Given the description of an element on the screen output the (x, y) to click on. 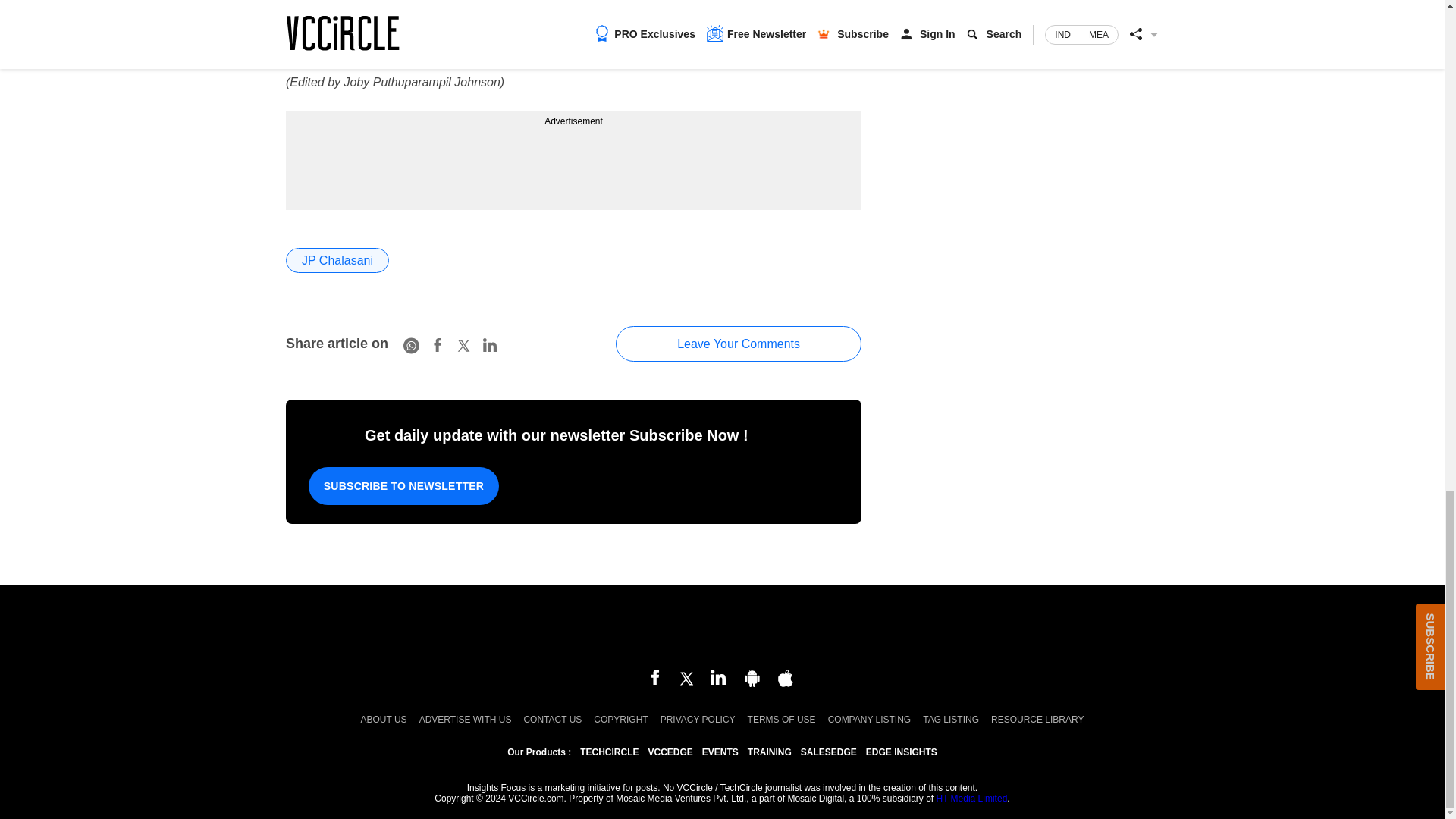
SUBSCRIBE TO NEWSLETTER (403, 485)
Mosaic Digital (721, 628)
JP Chalasani (336, 260)
Leave Your Comments (738, 343)
